Given the description of an element on the screen output the (x, y) to click on. 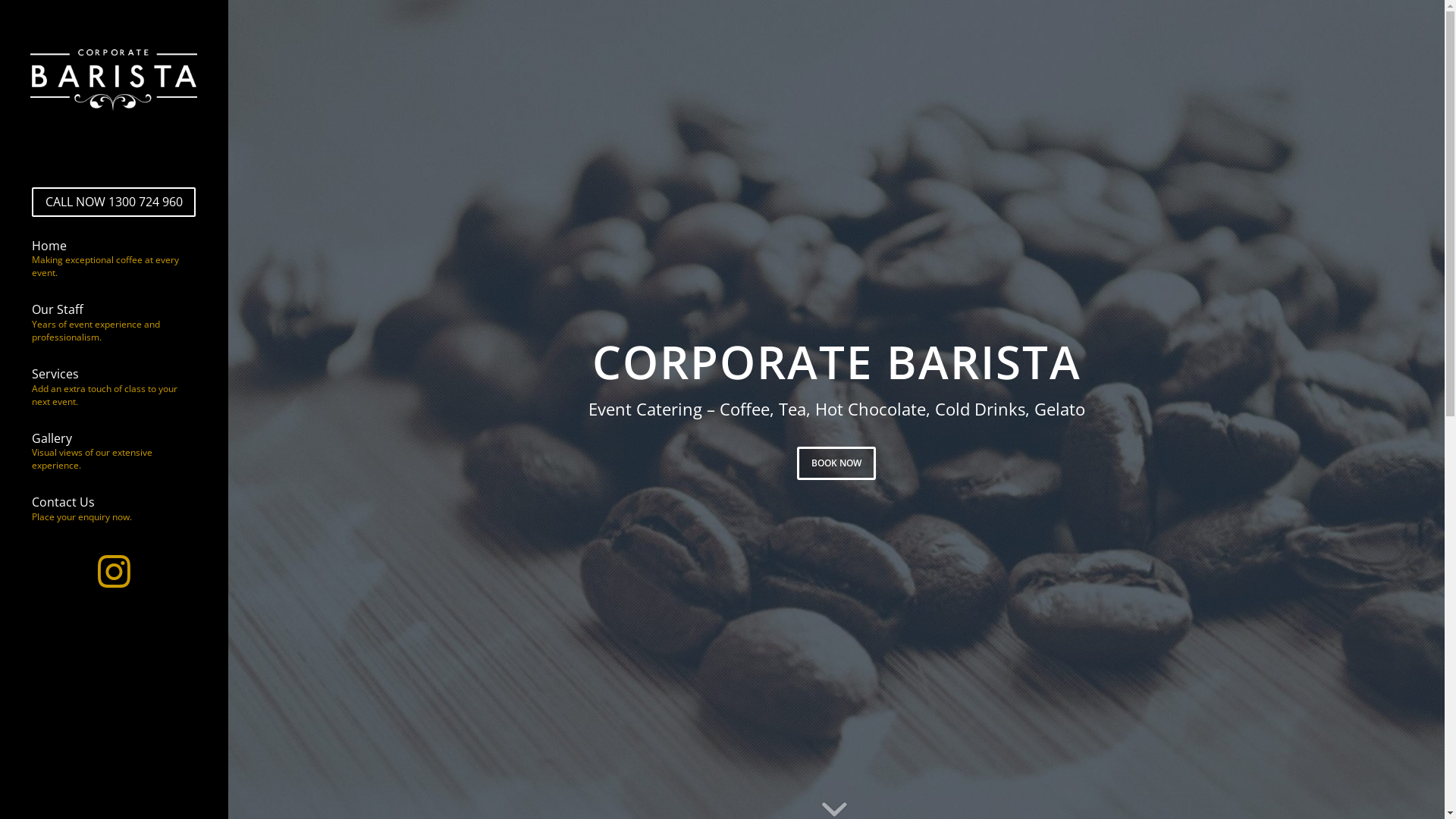
BOOK NOW Element type: text (836, 463)
Contact Us
Place your enquiry now. Element type: text (113, 509)
Instagram Element type: hover (113, 573)
CALL NOW 1300 724 960 Element type: text (113, 201)
Home
Making exceptional coffee at every event. Element type: text (113, 260)
Our Staff
Years of event experience and professionalism. Element type: text (113, 323)
Gallery
Visual views of our extensive experience. Element type: text (113, 452)
Services
Add an extra touch of class to your next event. Element type: text (113, 388)
